Given the description of an element on the screen output the (x, y) to click on. 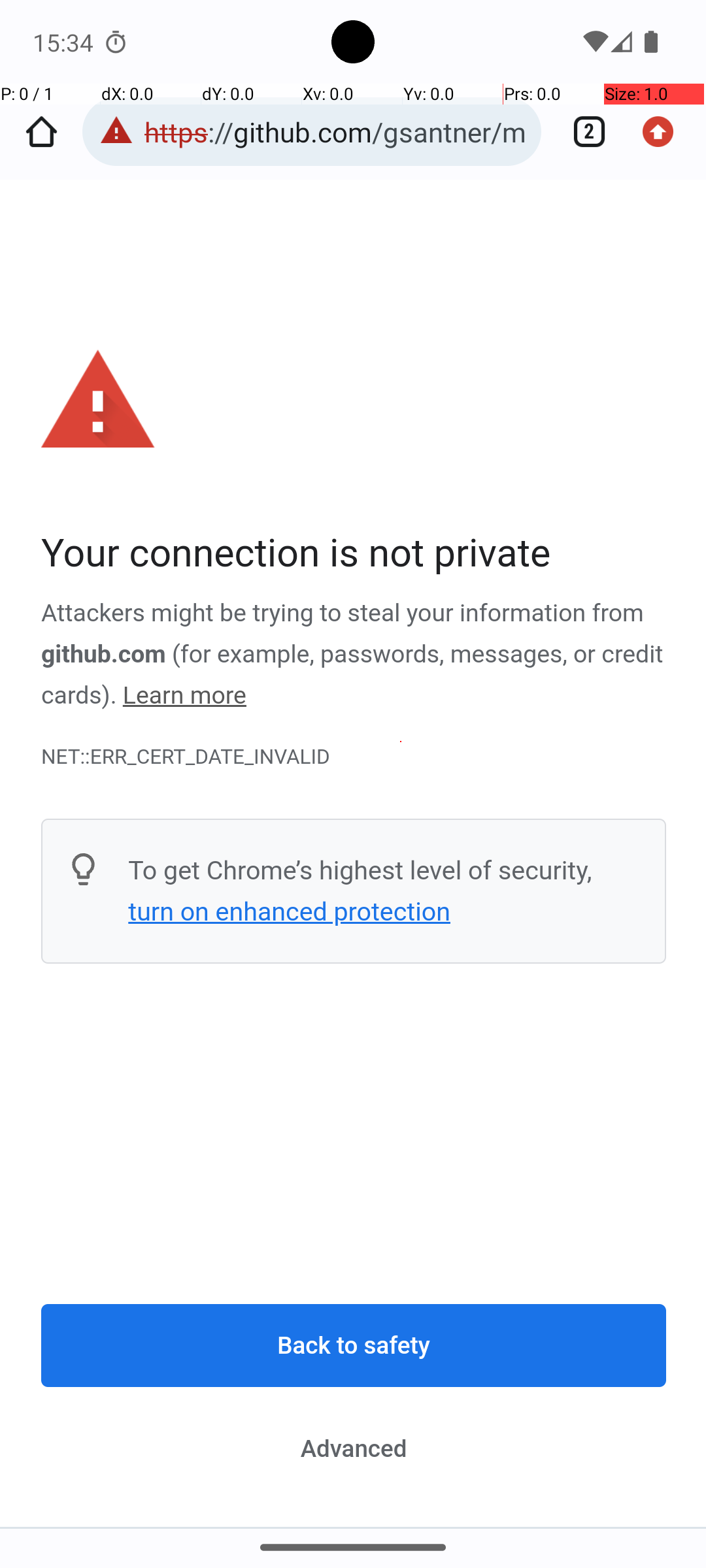
https://github.com/gsantner/markor/issues/new/choose Element type: android.widget.EditText (335, 131)
Update available. More options Element type: android.widget.ImageButton (664, 131)
